Given the description of an element on the screen output the (x, y) to click on. 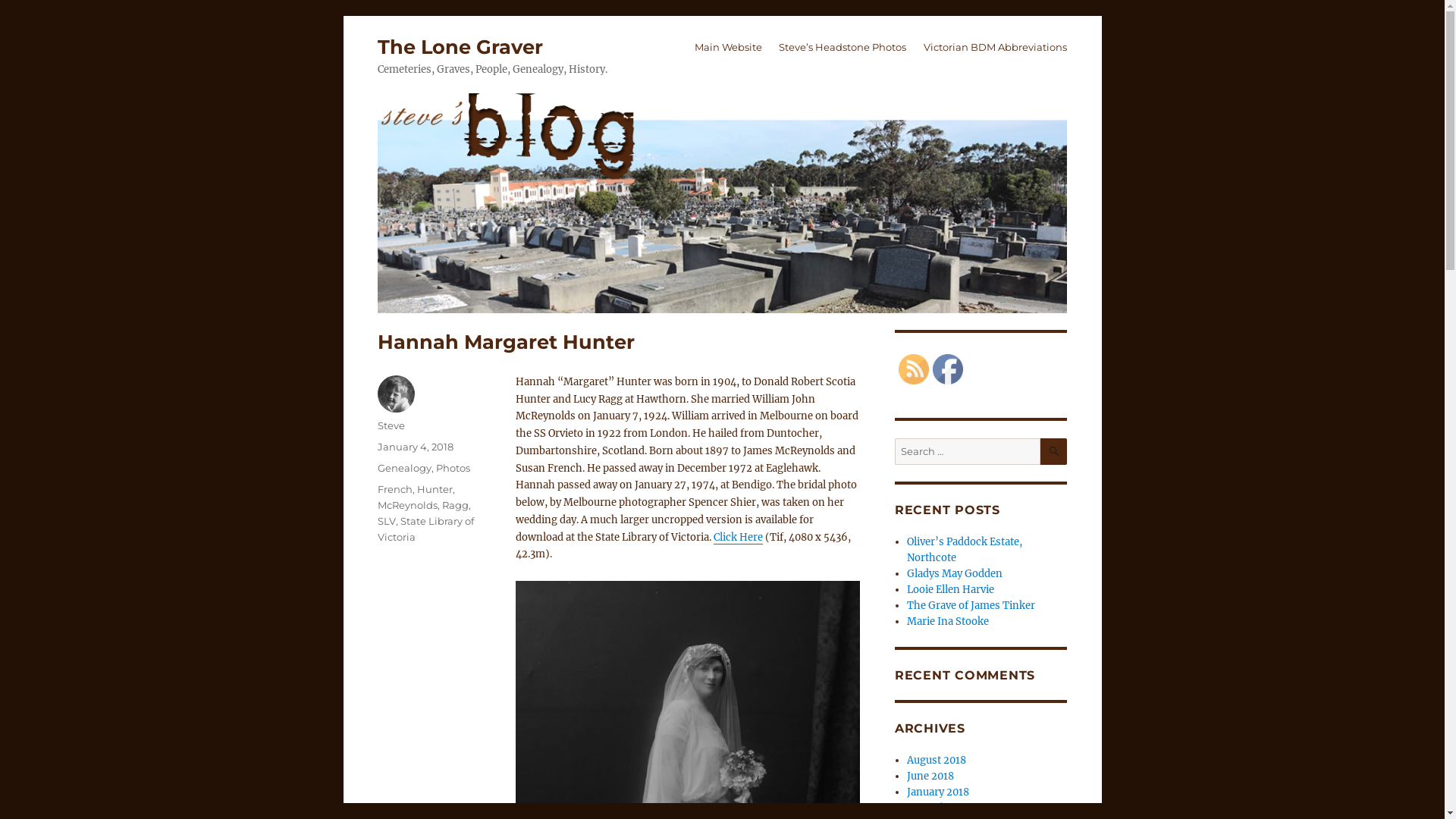
Victorian BDM Abbreviations Element type: text (995, 47)
Genealogy Element type: text (404, 467)
January 2018 Element type: text (937, 791)
The Lone Graver Element type: text (459, 46)
Hunter Element type: text (434, 489)
Gladys May Godden Element type: text (954, 573)
Looie Ellen Harvie Element type: text (950, 589)
French Element type: text (394, 489)
McReynolds Element type: text (407, 504)
Click Here Element type: text (737, 536)
Photos Element type: text (453, 467)
August 2018 Element type: text (936, 759)
Steve Element type: text (390, 425)
Marie Ina Stooke Element type: text (947, 621)
RSS Element type: hover (913, 369)
Main Website Element type: text (727, 47)
June 2018 Element type: text (929, 775)
The Grave of James Tinker Element type: text (970, 605)
December 2017 Element type: text (943, 807)
January 4, 2018 Element type: text (415, 446)
Ragg Element type: text (455, 504)
Facebook Element type: hover (947, 369)
SLV Element type: text (386, 520)
State Library of Victoria Element type: text (425, 528)
SEARCH Element type: text (1053, 451)
